Given the description of an element on the screen output the (x, y) to click on. 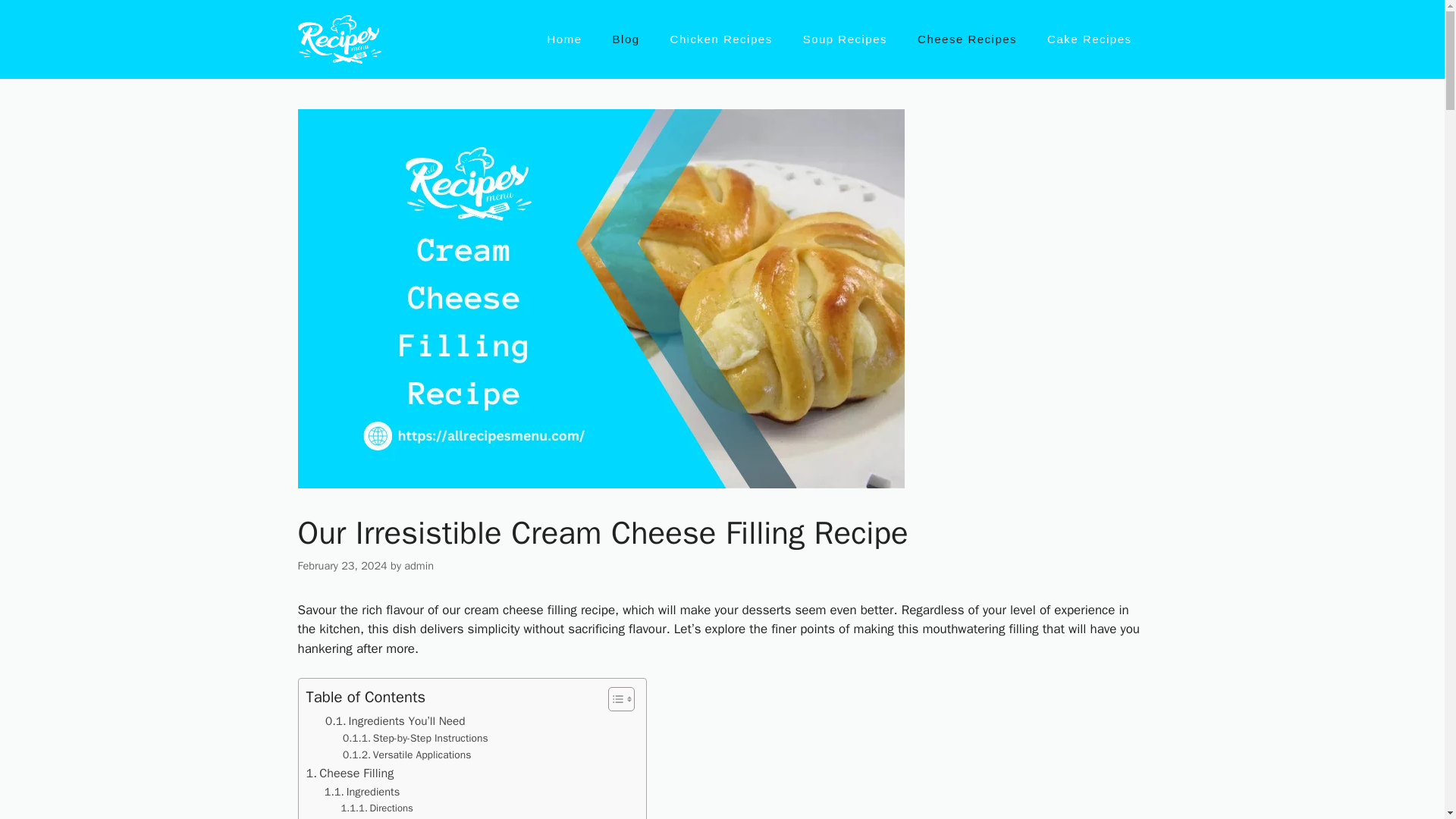
Nutrition Facts (386, 817)
Directions (376, 808)
Ingredients (361, 791)
Cheese Recipes (967, 39)
Cheese Filling (349, 772)
Cheese Filling (349, 772)
View all posts by admin (418, 565)
Nutrition Facts (386, 817)
Step-by-Step Instructions (414, 738)
Soup Recipes (844, 39)
